Given the description of an element on the screen output the (x, y) to click on. 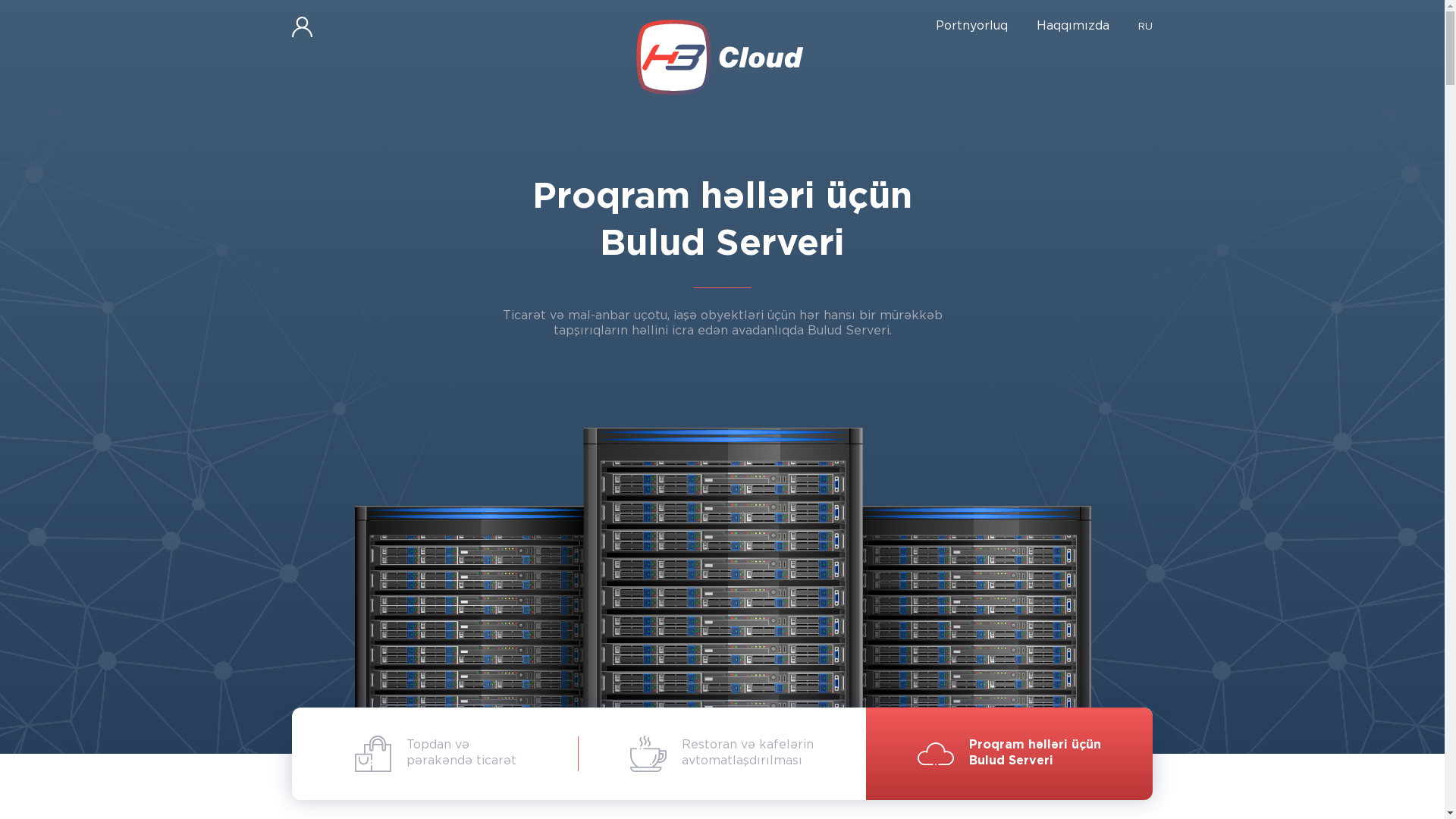
Portnyorluq Element type: text (971, 26)
RU Element type: text (1145, 27)
